Given the description of an element on the screen output the (x, y) to click on. 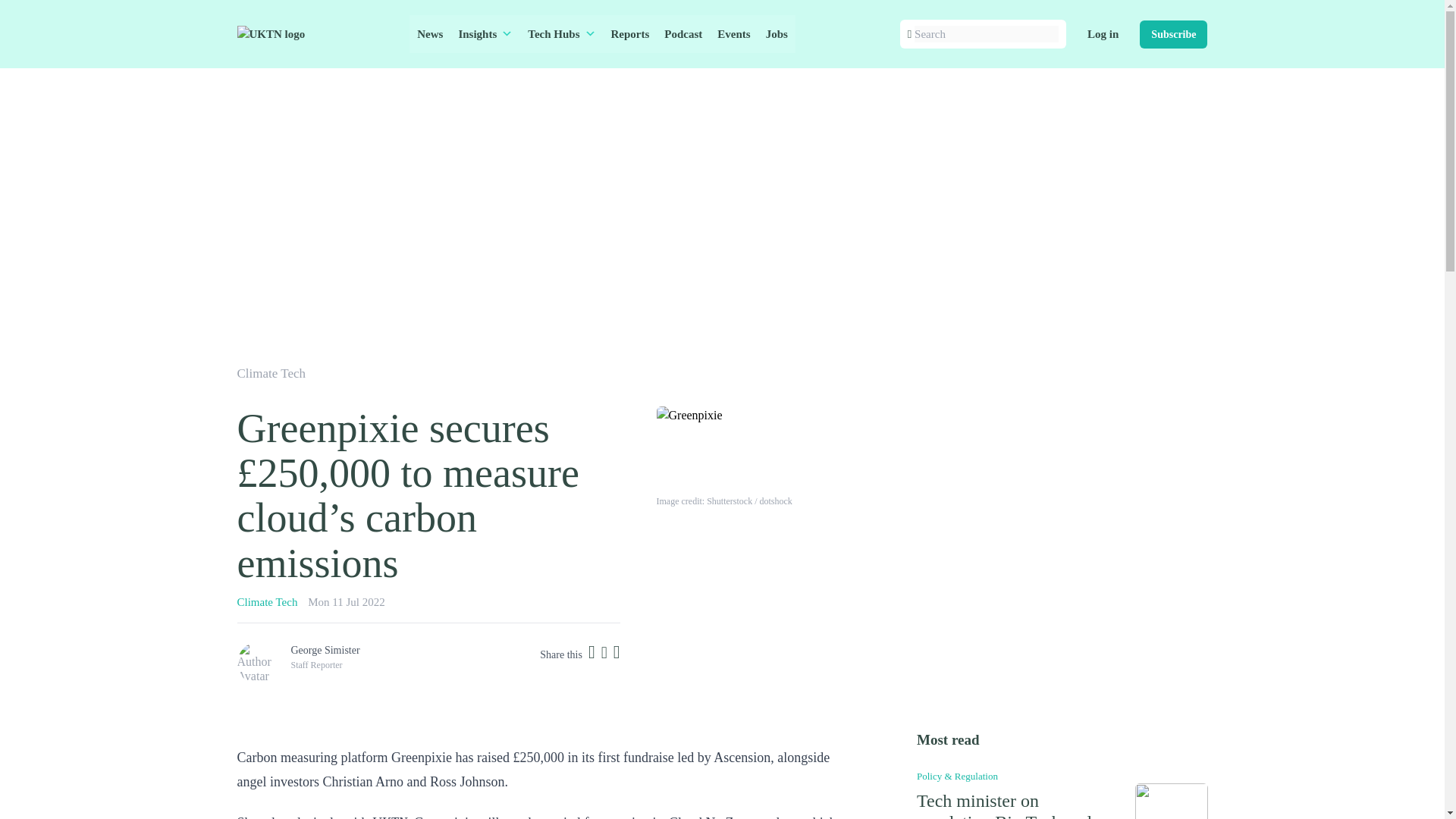
Jobs (776, 34)
Events (733, 34)
Insights (484, 34)
Reports (631, 34)
Climate Tech (266, 602)
George Simister (325, 650)
News (429, 34)
Posts by George Simister (325, 650)
Podcast (683, 34)
Search for: (986, 34)
